Given the description of an element on the screen output the (x, y) to click on. 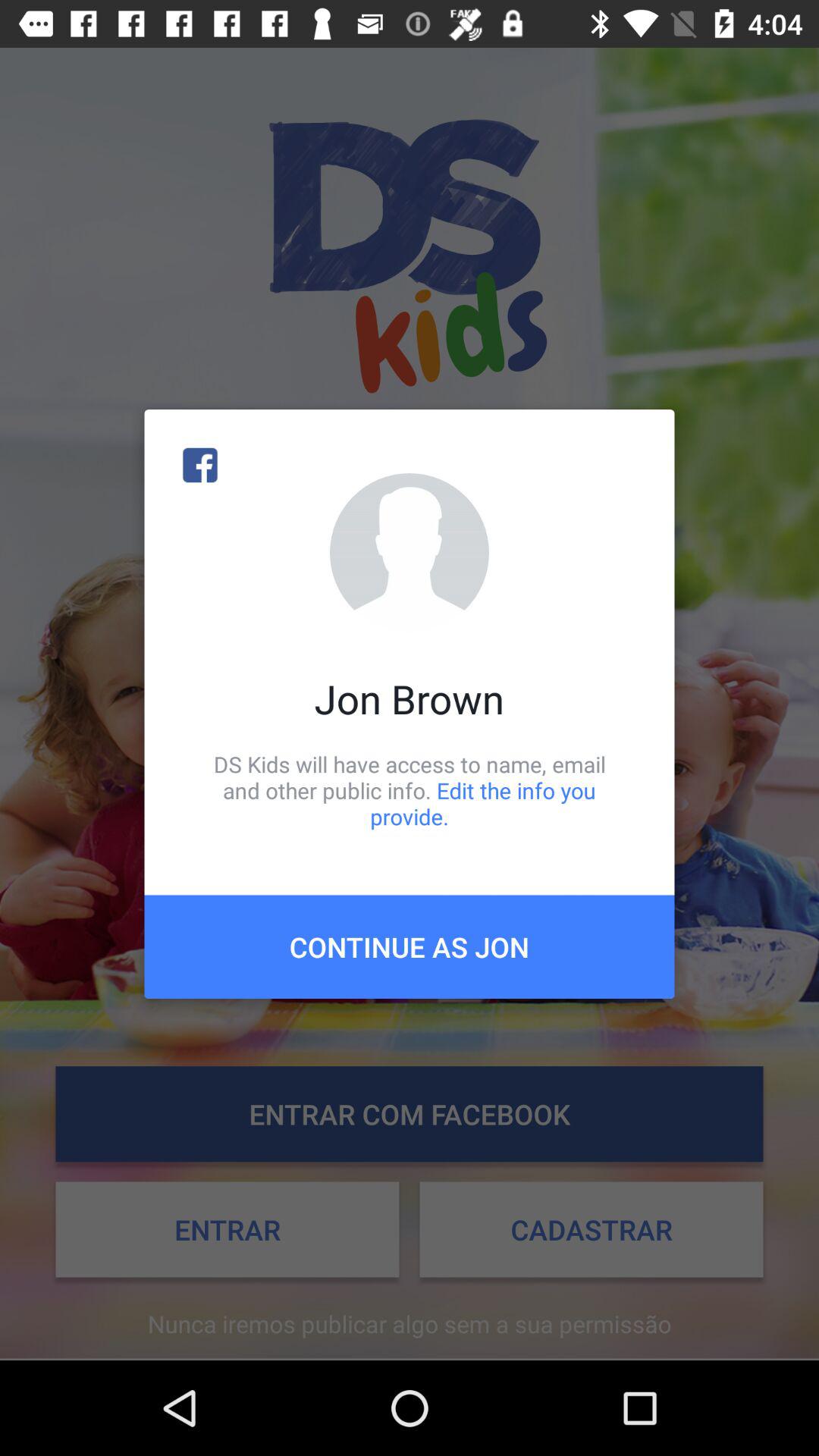
turn off the item below jon brown (409, 790)
